Given the description of an element on the screen output the (x, y) to click on. 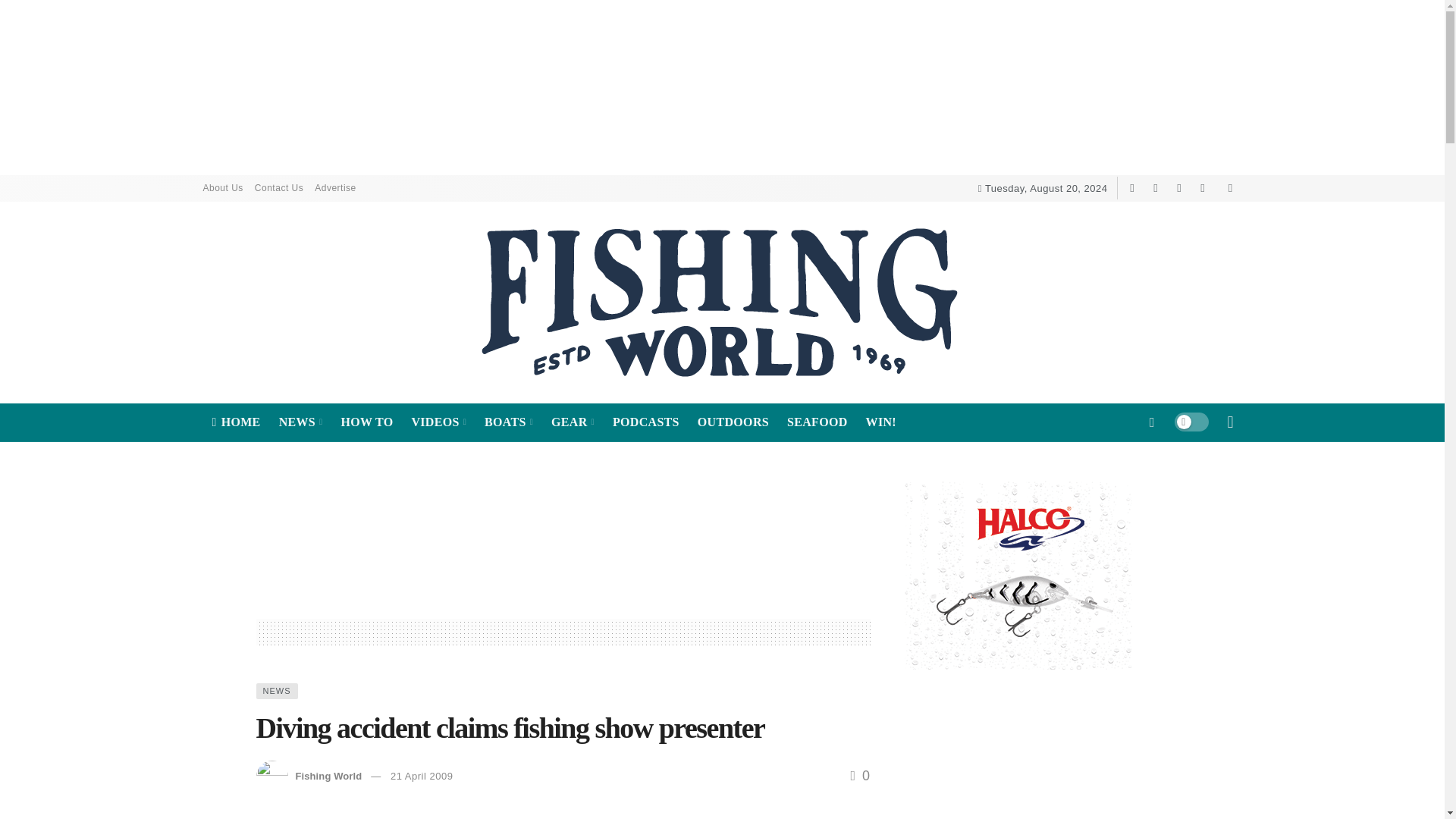
HOME (236, 422)
OUTDOORS (732, 422)
SEAFOOD (817, 422)
About Us (228, 188)
BOATS (508, 422)
GEAR (572, 422)
WIN! (881, 422)
Contact Us (284, 188)
PODCASTS (646, 422)
VIDEOS (438, 422)
